Given the description of an element on the screen output the (x, y) to click on. 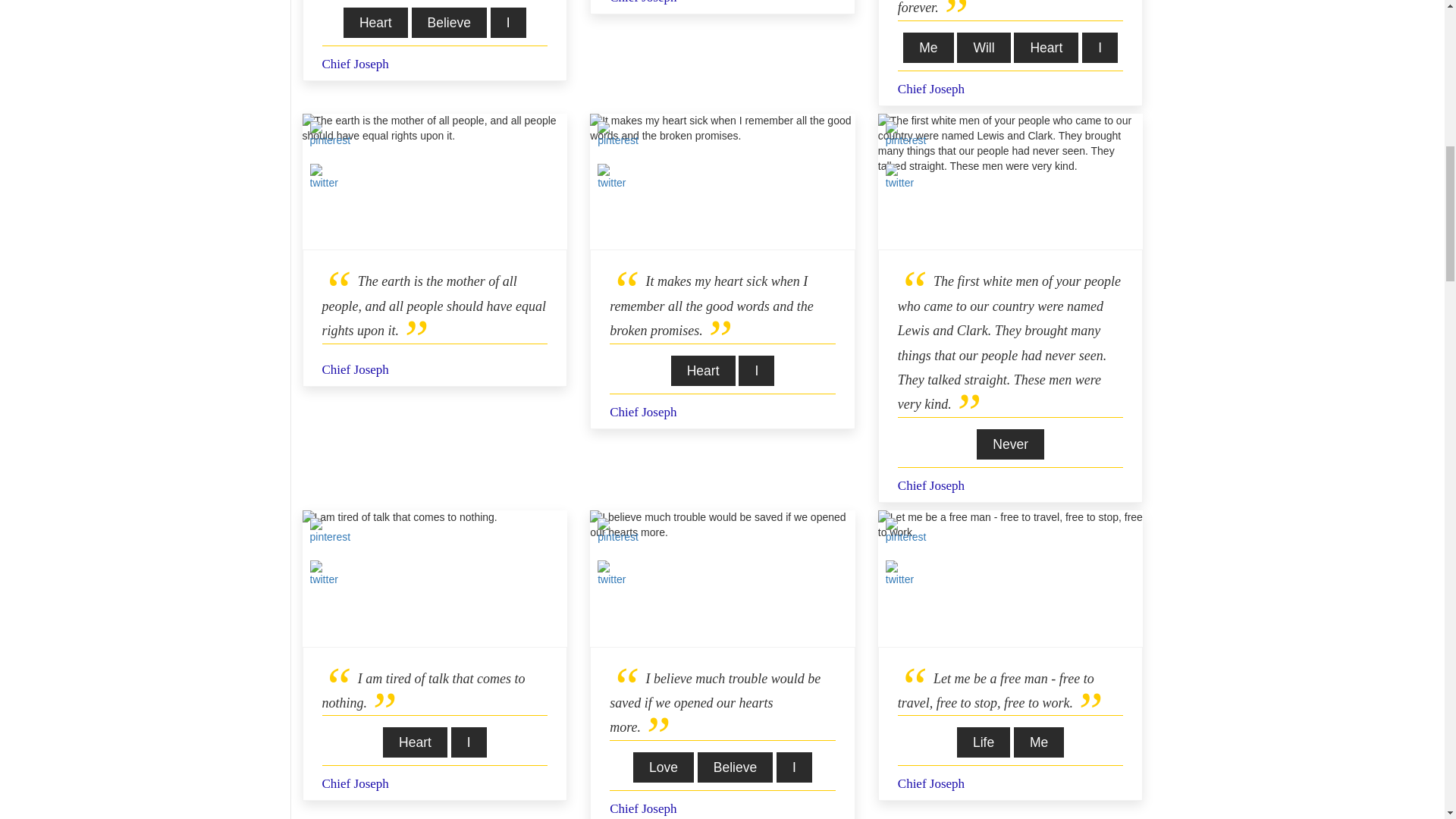
Believe (449, 22)
I (507, 22)
Heart (375, 22)
